Given the description of an element on the screen output the (x, y) to click on. 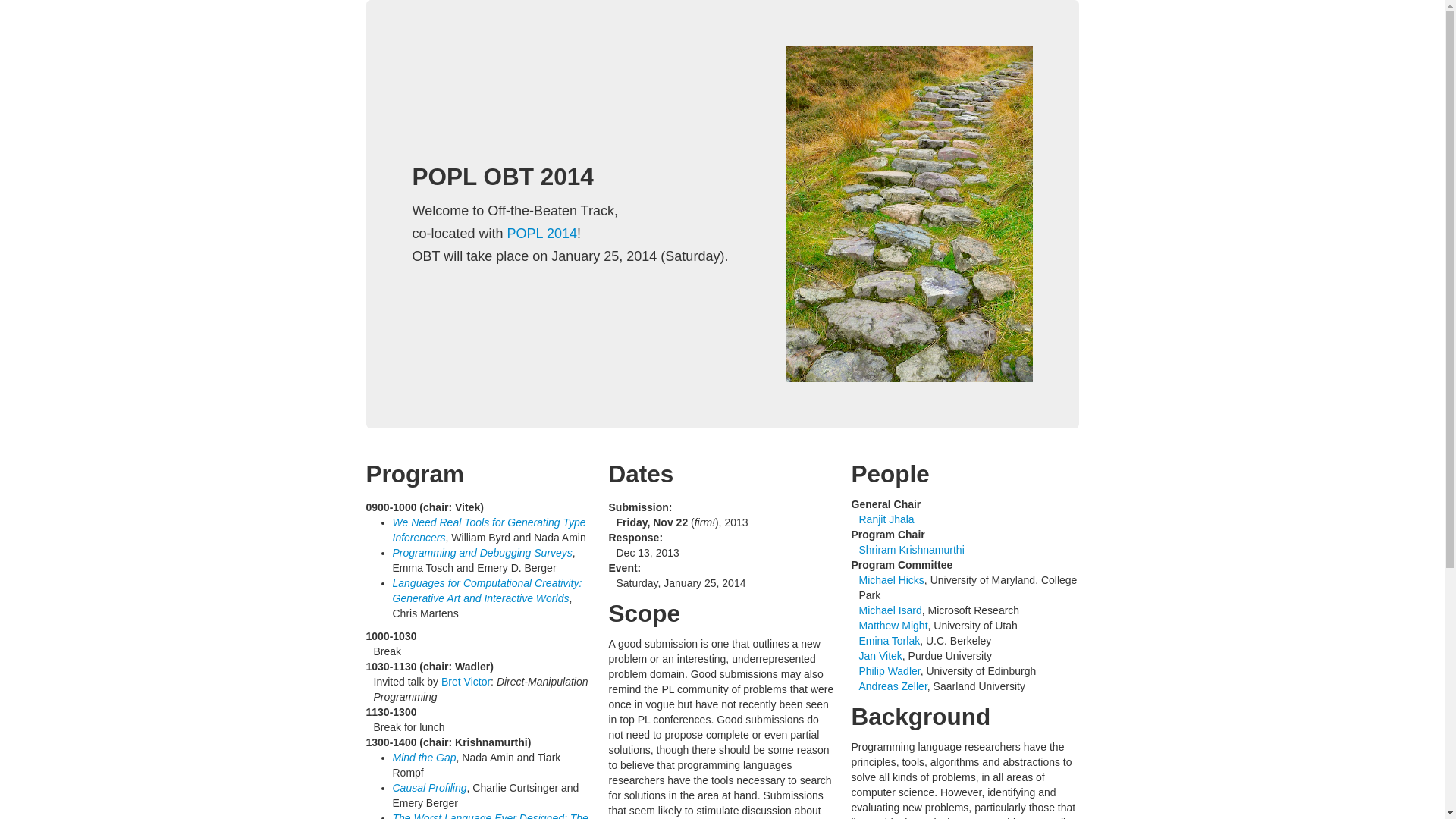
Jan Vitek (880, 655)
Michael Hicks (891, 580)
Causal Profiling (430, 787)
Ranjit Jhala (886, 519)
Matthew Might (893, 625)
POPL 2014 (541, 233)
Emina Torlak (889, 640)
Shriram Krishnamurthi (911, 549)
We Need Real Tools for Generating Type Inferencers (489, 529)
Andreas Zeller (892, 686)
Mind the Gap (425, 757)
Philip Wadler (889, 671)
Bret Victor (465, 681)
Michael Isard (890, 610)
